Given the description of an element on the screen output the (x, y) to click on. 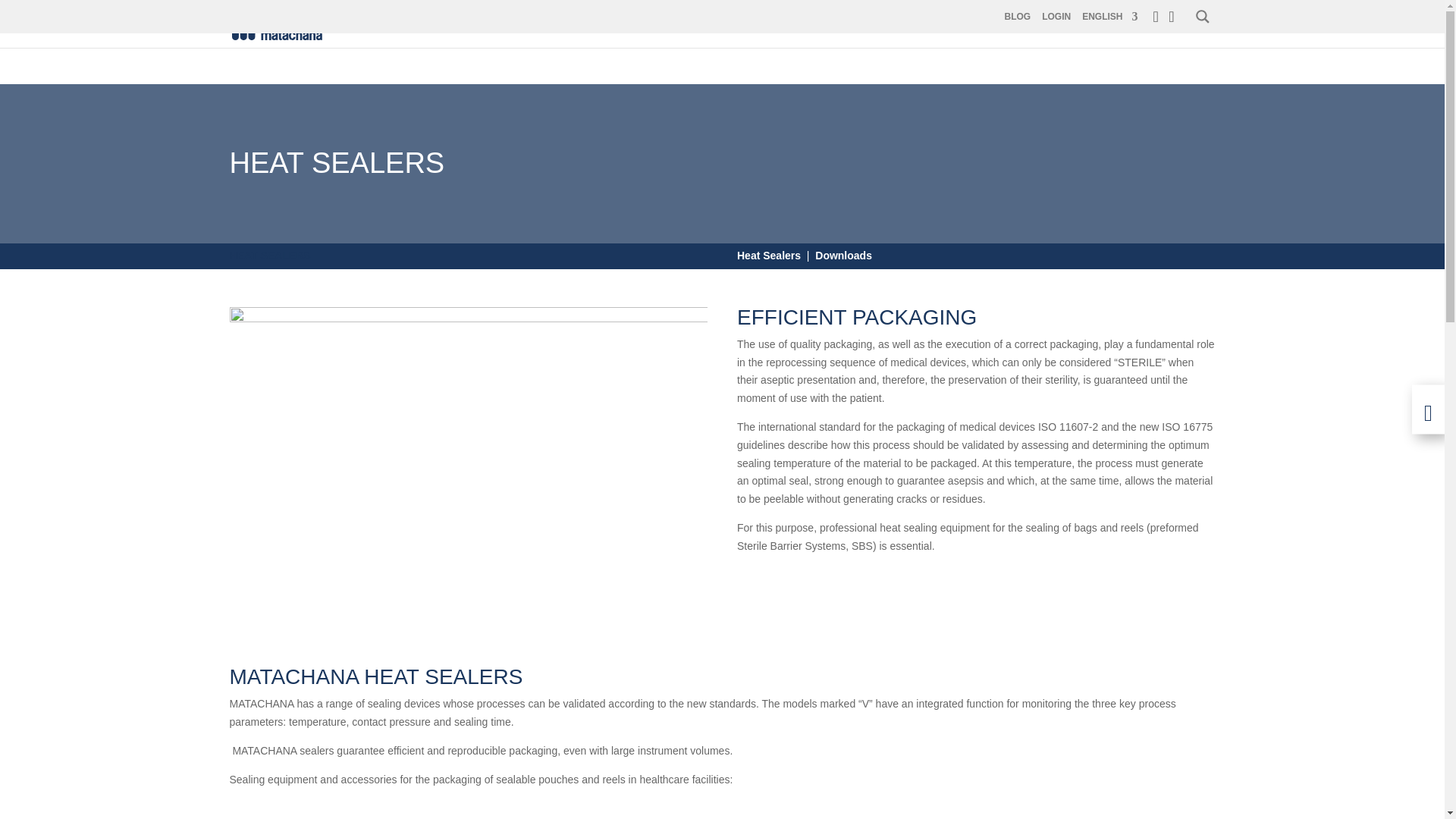
LOGIN (1056, 16)
BLOG (1017, 16)
ENGLISH (1109, 16)
English (1109, 16)
Header mats (467, 441)
